Given the description of an element on the screen output the (x, y) to click on. 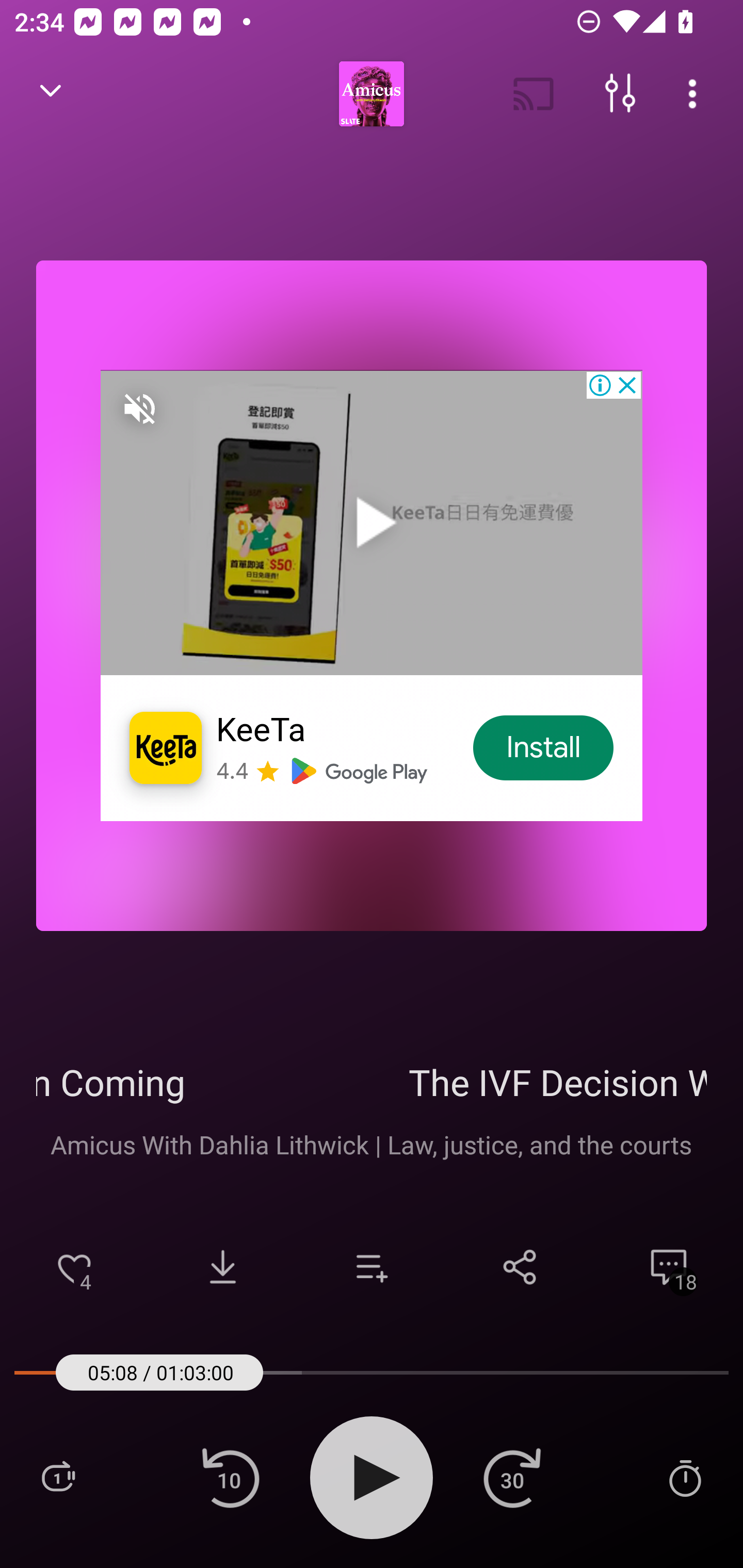
Cast. Disconnected (533, 93)
 Back (50, 94)
KeeTa 4.4 Install Install (371, 595)
Install (543, 747)
The IVF Decision We Should Have Seen Coming (371, 1081)
18 Comments (668, 1266)
Add to Favorites (73, 1266)
Add to playlist (371, 1266)
Share (519, 1266)
 Playlist (57, 1477)
Sleep Timer  (684, 1477)
